Given the description of an element on the screen output the (x, y) to click on. 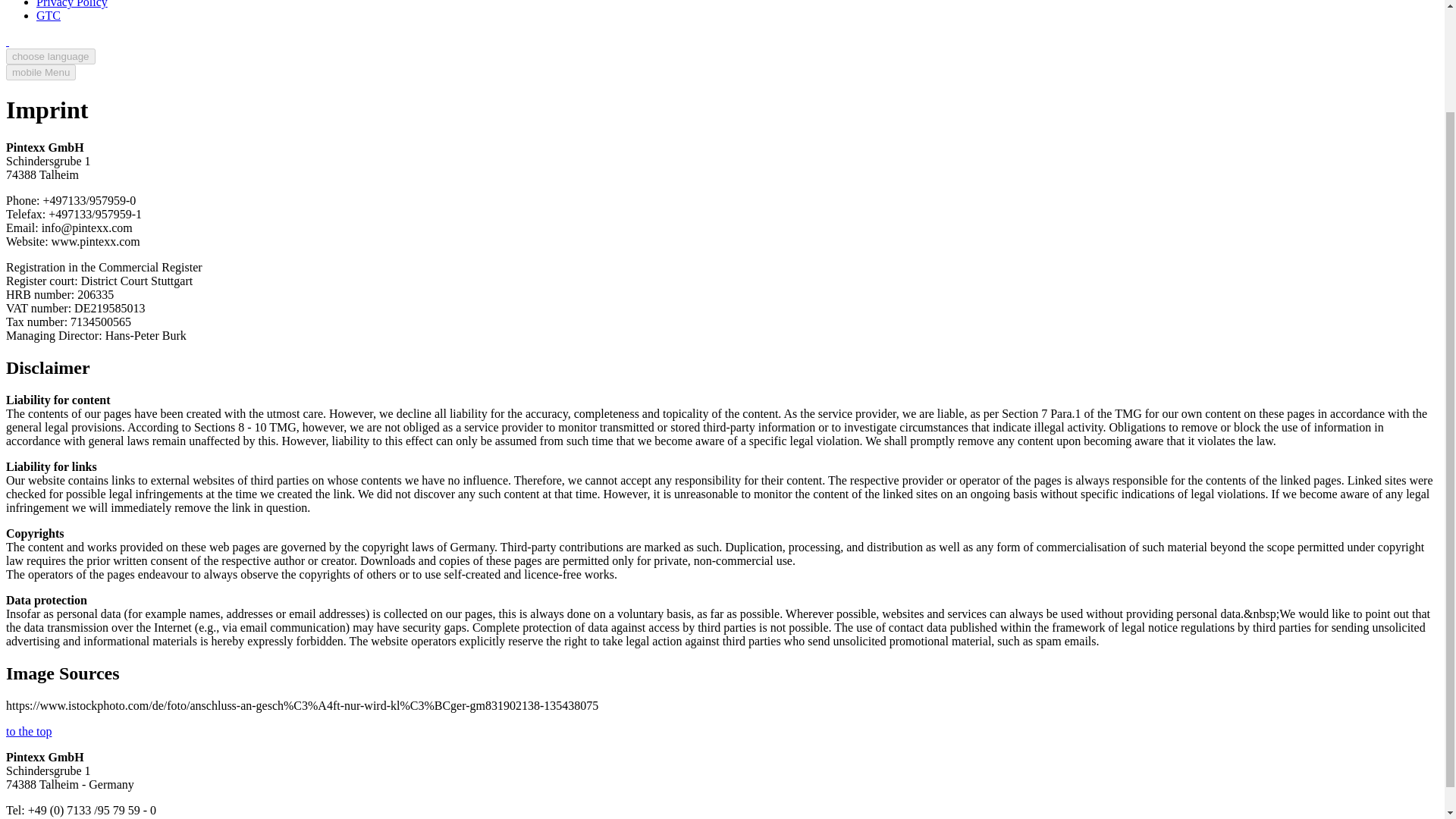
GTC (48, 15)
to the top (27, 730)
GTC (48, 15)
mobile Menu (40, 72)
Privacy Policy (71, 4)
Privacy Policy (71, 4)
top of the page (27, 730)
choose language (50, 56)
